Given the description of an element on the screen output the (x, y) to click on. 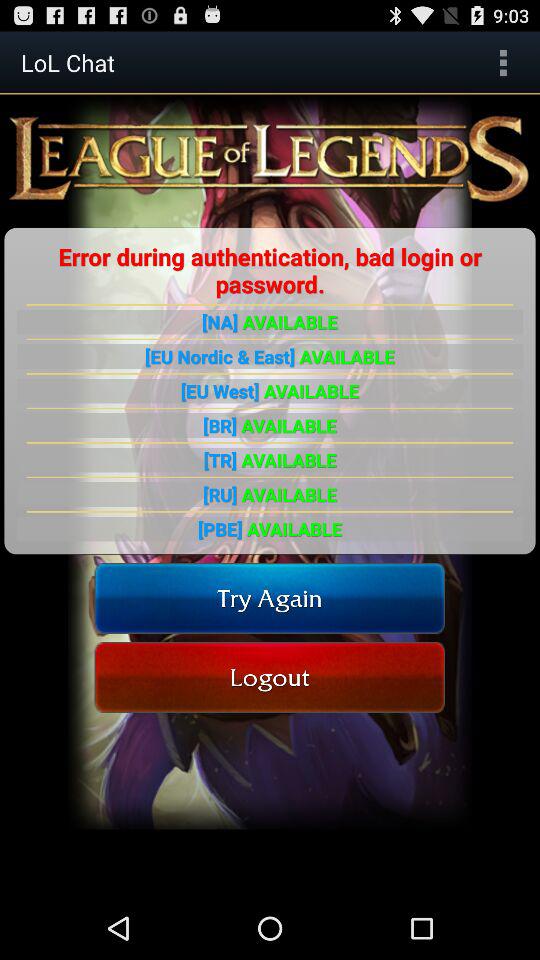
choose button at the bottom (269, 676)
